Given the description of an element on the screen output the (x, y) to click on. 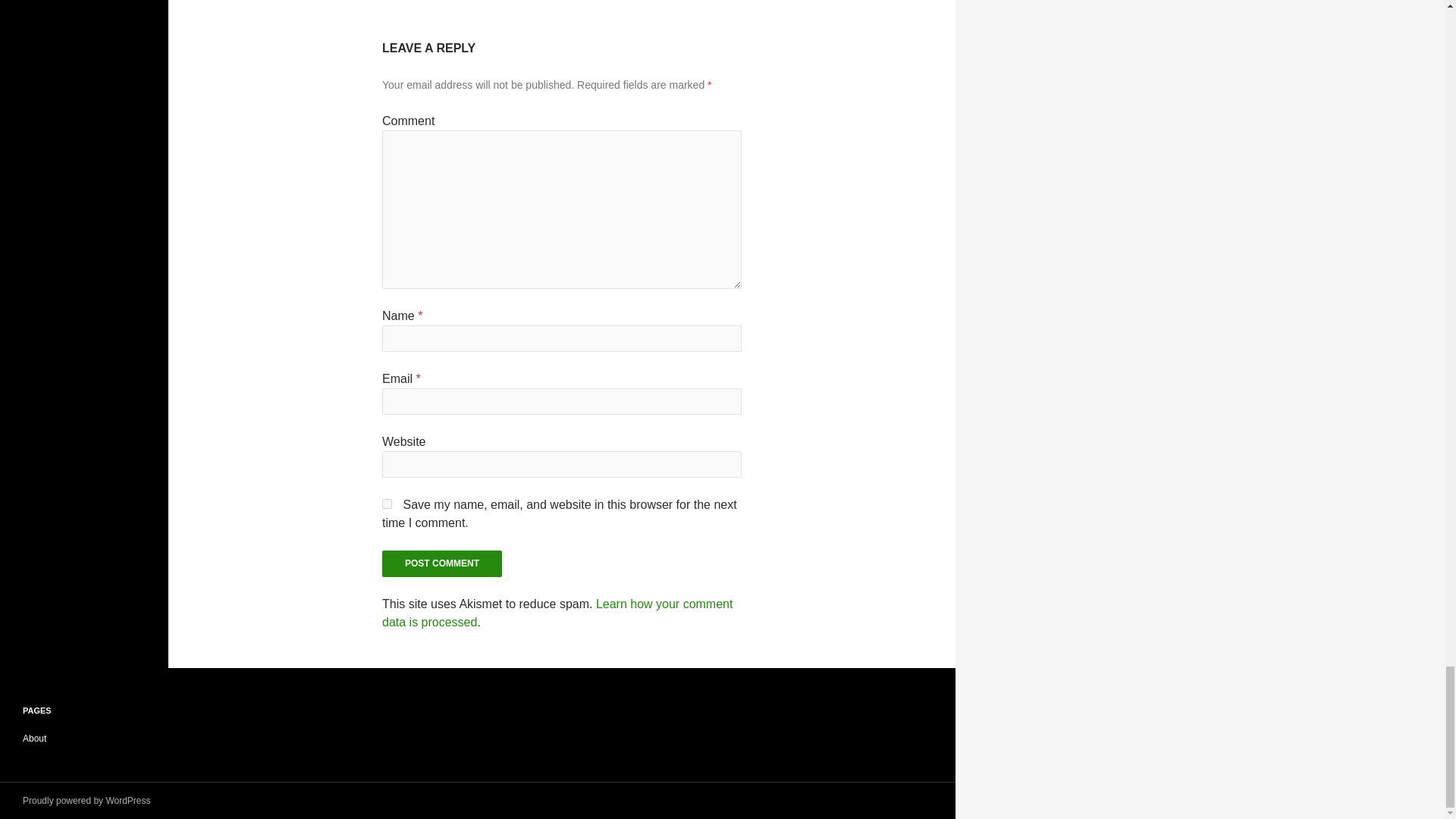
Post Comment (441, 563)
yes (386, 503)
Post Comment (441, 563)
Learn how your comment data is processed (556, 612)
